Given the description of an element on the screen output the (x, y) to click on. 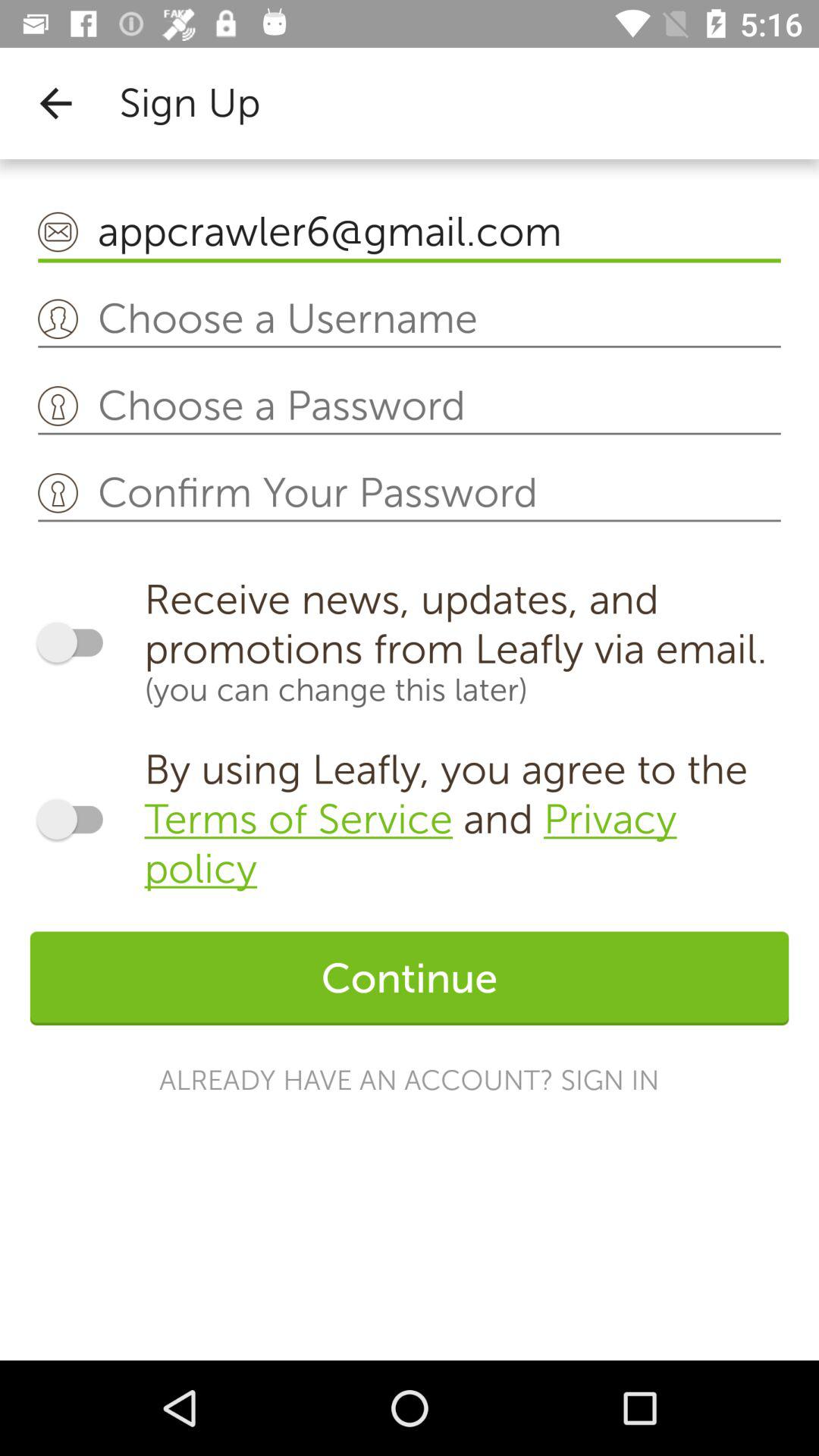
type desired username (409, 319)
